Given the description of an element on the screen output the (x, y) to click on. 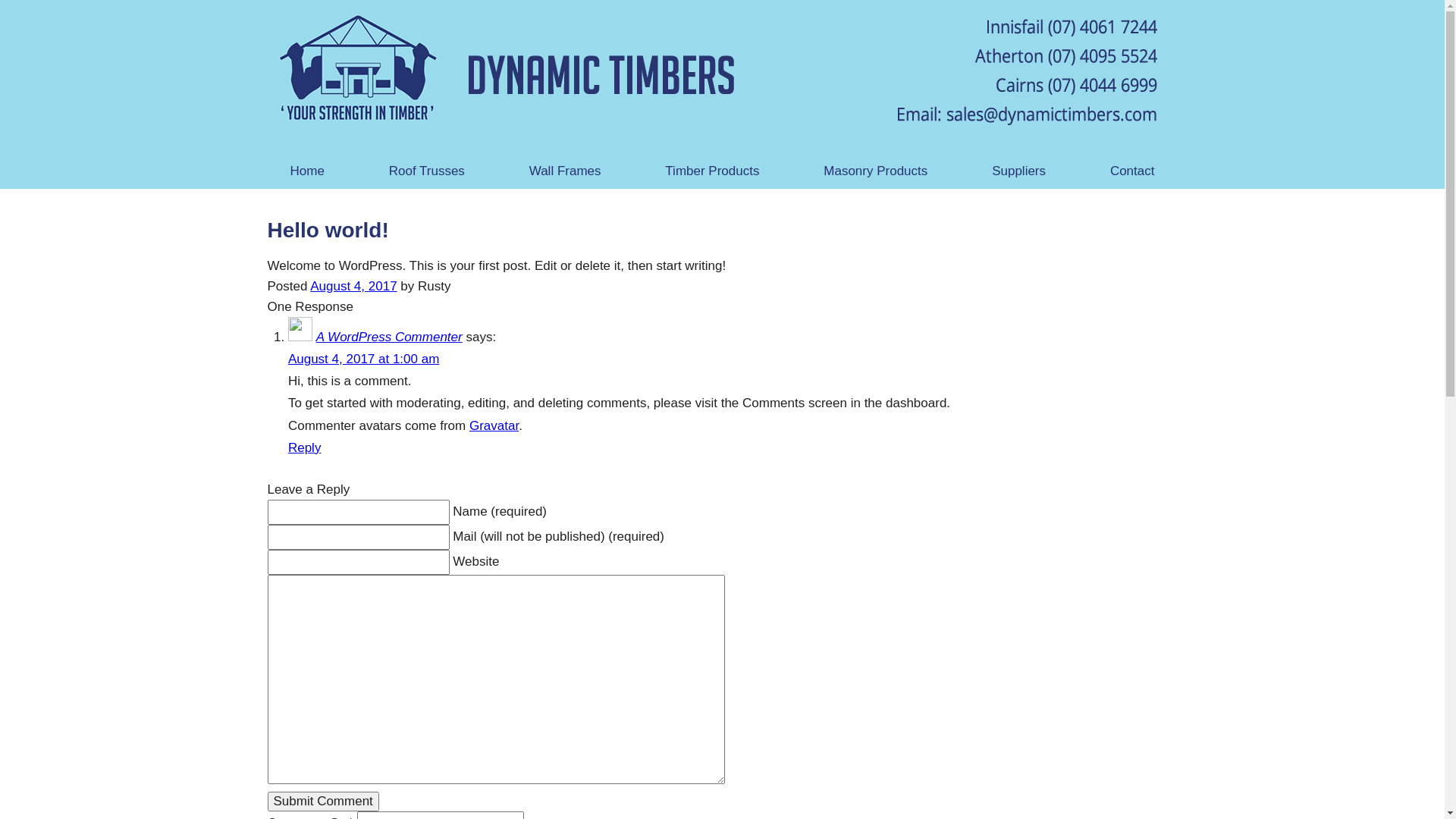
Gravatar Element type: text (493, 425)
A WordPress Commenter Element type: text (389, 336)
Reply Element type: text (304, 447)
Submit Comment Element type: text (322, 801)
Contact Element type: text (1132, 172)
Home Element type: text (306, 172)
Suppliers Element type: text (1018, 172)
Wall Frames Element type: text (565, 172)
Roof Trusses Element type: text (426, 172)
Masonry Products Element type: text (875, 172)
August 4, 2017 at 1:00 am Element type: text (363, 358)
August 4, 2017 Element type: text (353, 286)
Timber Products Element type: text (711, 172)
